Given the description of an element on the screen output the (x, y) to click on. 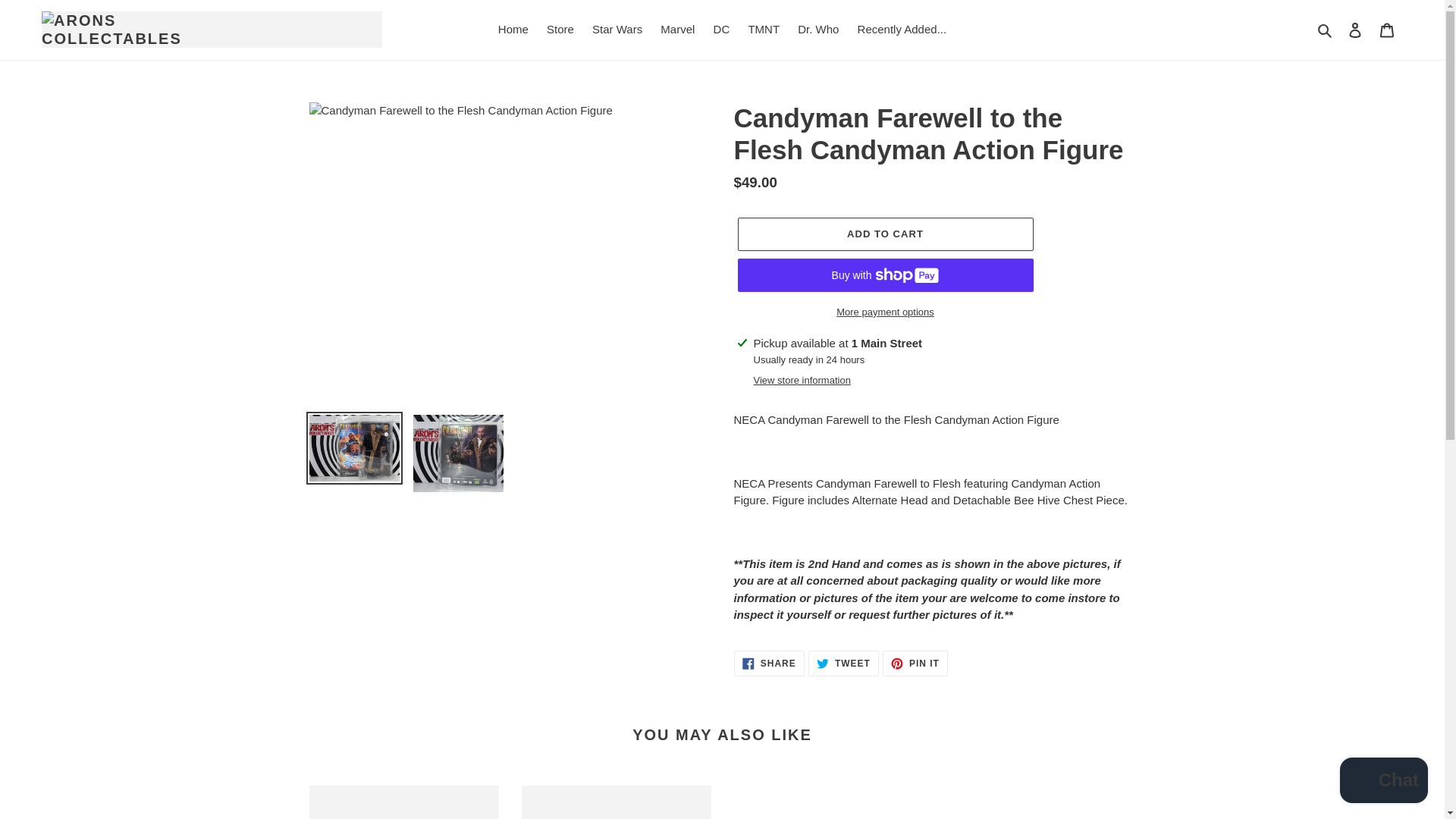
Marvel (676, 29)
DC (722, 29)
Dr. Who (817, 29)
TMNT (763, 29)
Recently Added... (843, 663)
Log in (902, 29)
Home (1355, 29)
Cart (512, 29)
Star Wars (1387, 29)
